Given the description of an element on the screen output the (x, y) to click on. 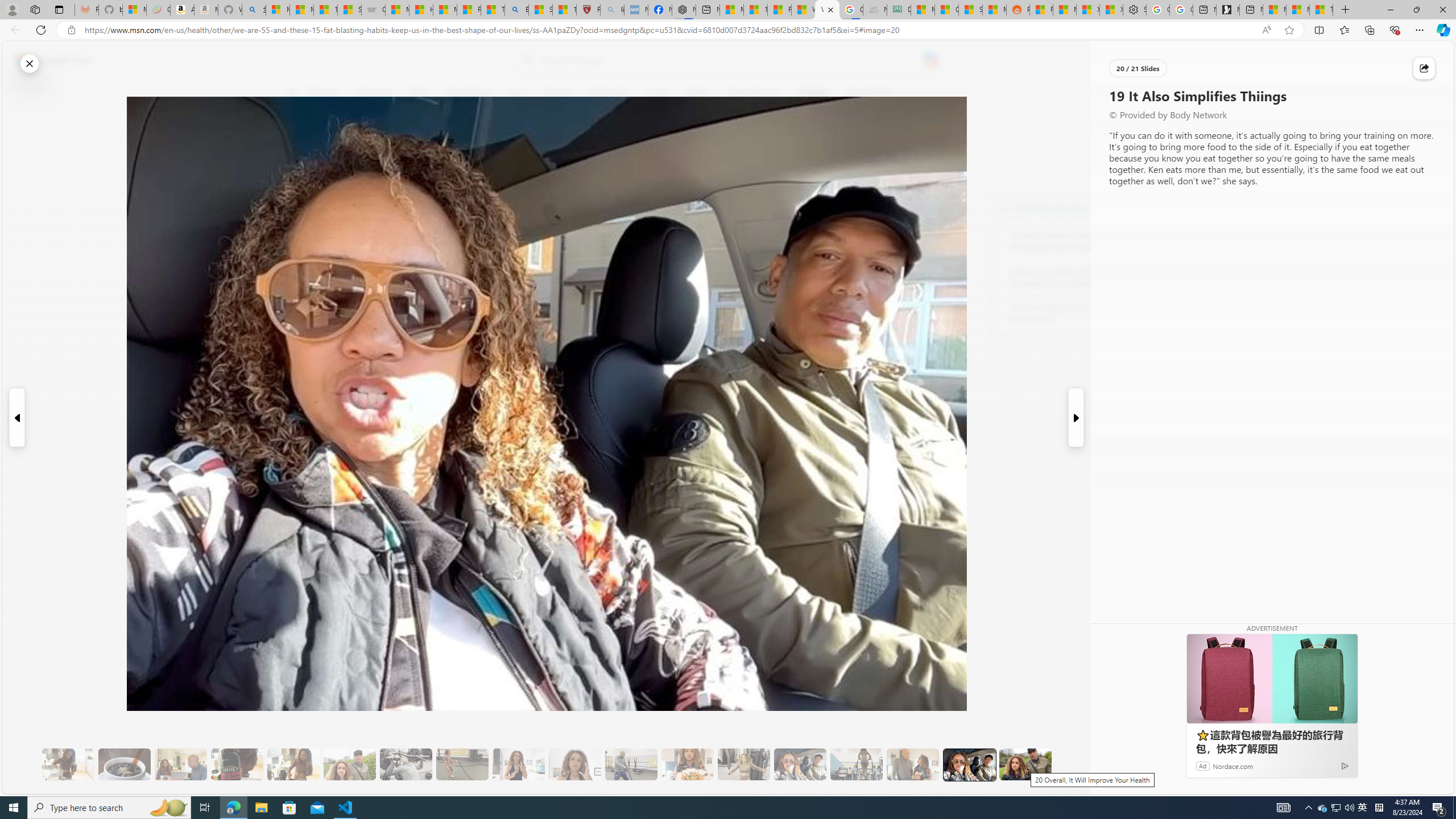
3 They Drink Lemon Tea (68, 764)
Previous Slide (16, 417)
How I Got Rid of Microsoft Edge's Unnecessary Features (421, 9)
MSN (993, 9)
Science - MSN (540, 9)
Discover (327, 92)
Technology (608, 92)
Web search (526, 60)
Politics (697, 92)
